Given the description of an element on the screen output the (x, y) to click on. 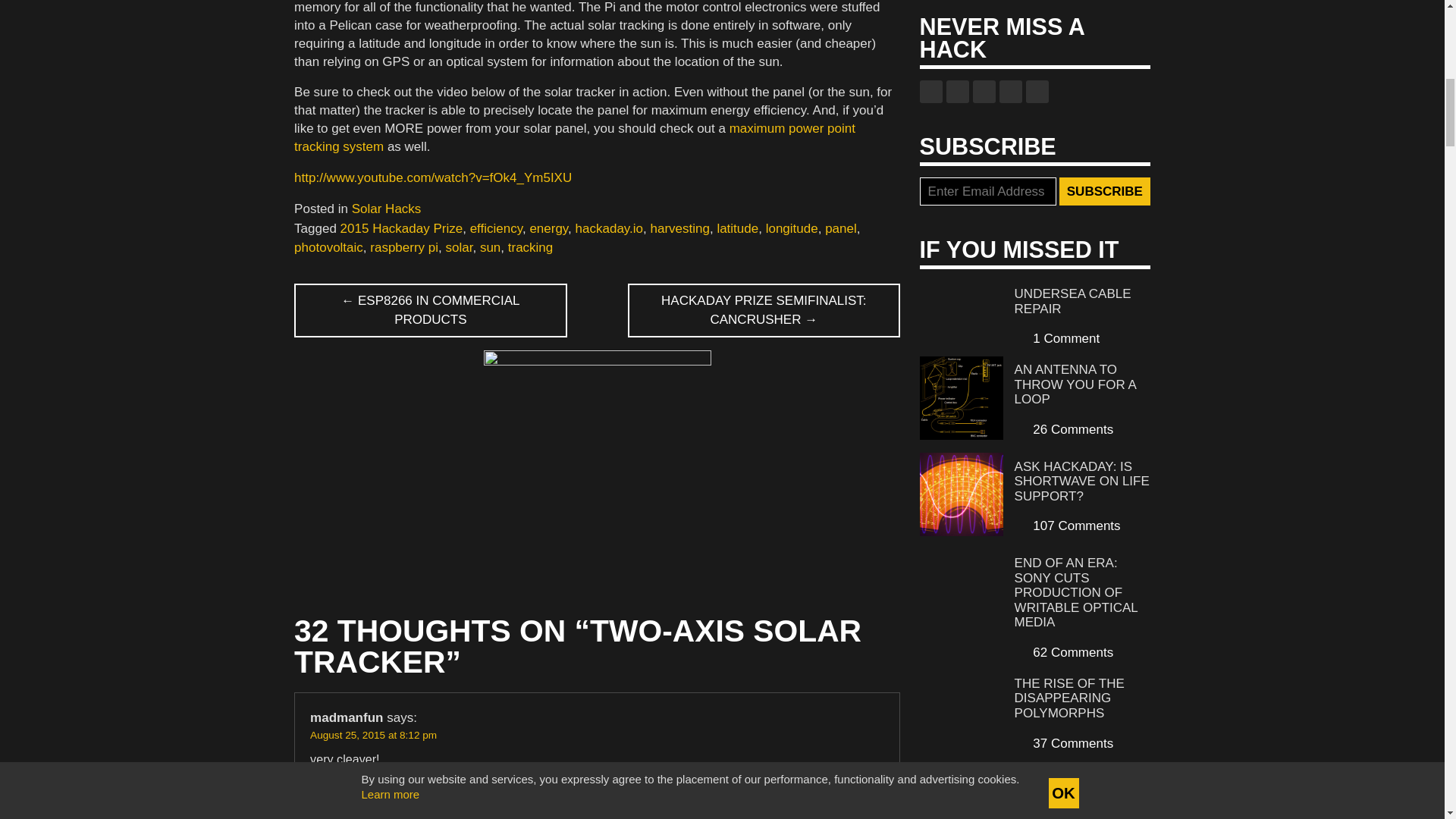
hackaday.io (609, 228)
Solar Hacks (387, 208)
2015 Hackaday Prize (401, 228)
latitude (737, 228)
longitude (791, 228)
harvesting (679, 228)
efficiency (496, 228)
Subscribe (1104, 191)
panel (841, 228)
maximum power point tracking system (575, 137)
photovoltaic (328, 247)
energy (548, 228)
